Given the description of an element on the screen output the (x, y) to click on. 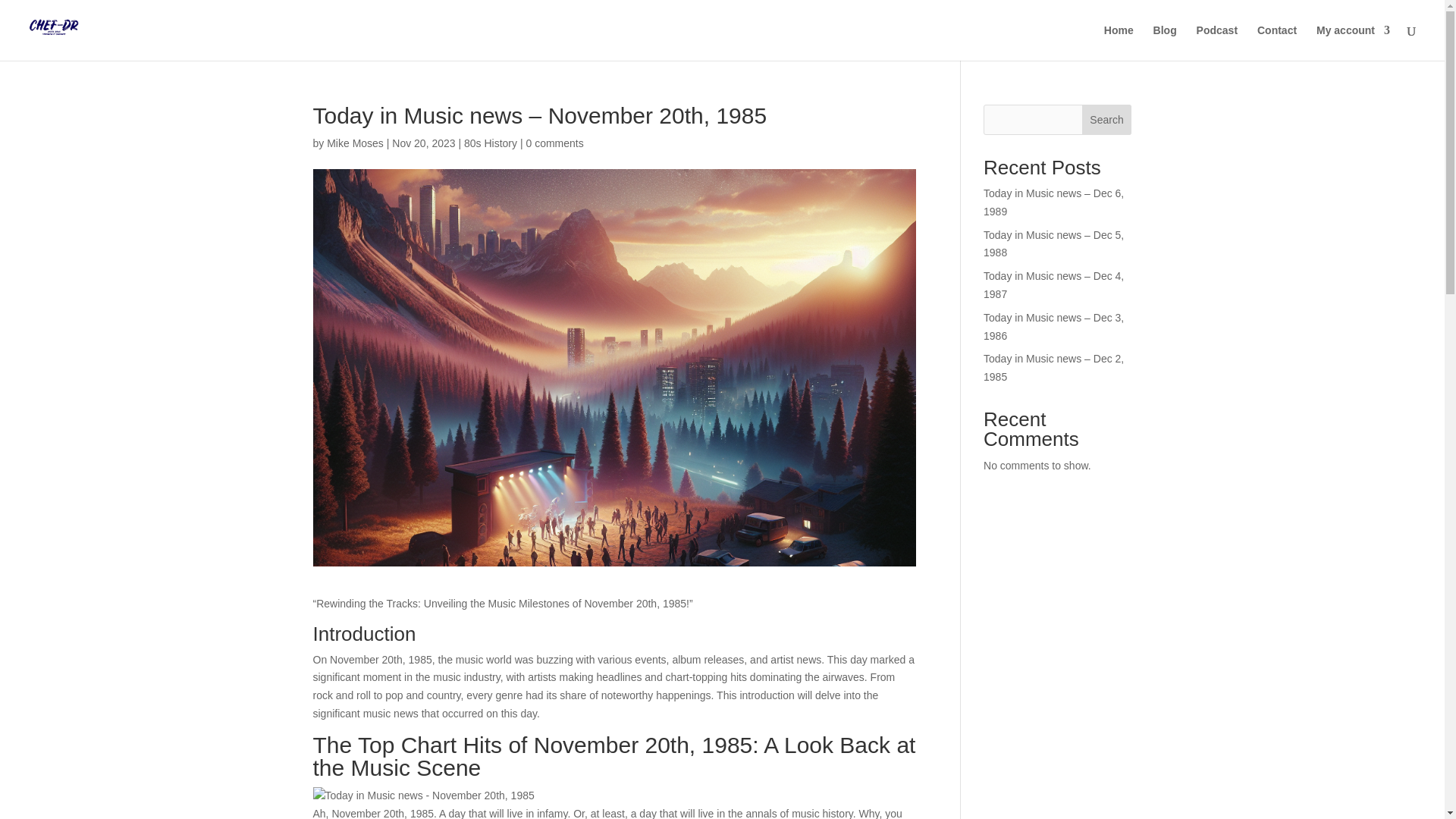
Posts by Mike Moses (355, 143)
Search (1106, 119)
0 comments (554, 143)
My account (1353, 42)
Contact (1277, 42)
Podcast (1216, 42)
Mike Moses (355, 143)
80s History (490, 143)
